Given the description of an element on the screen output the (x, y) to click on. 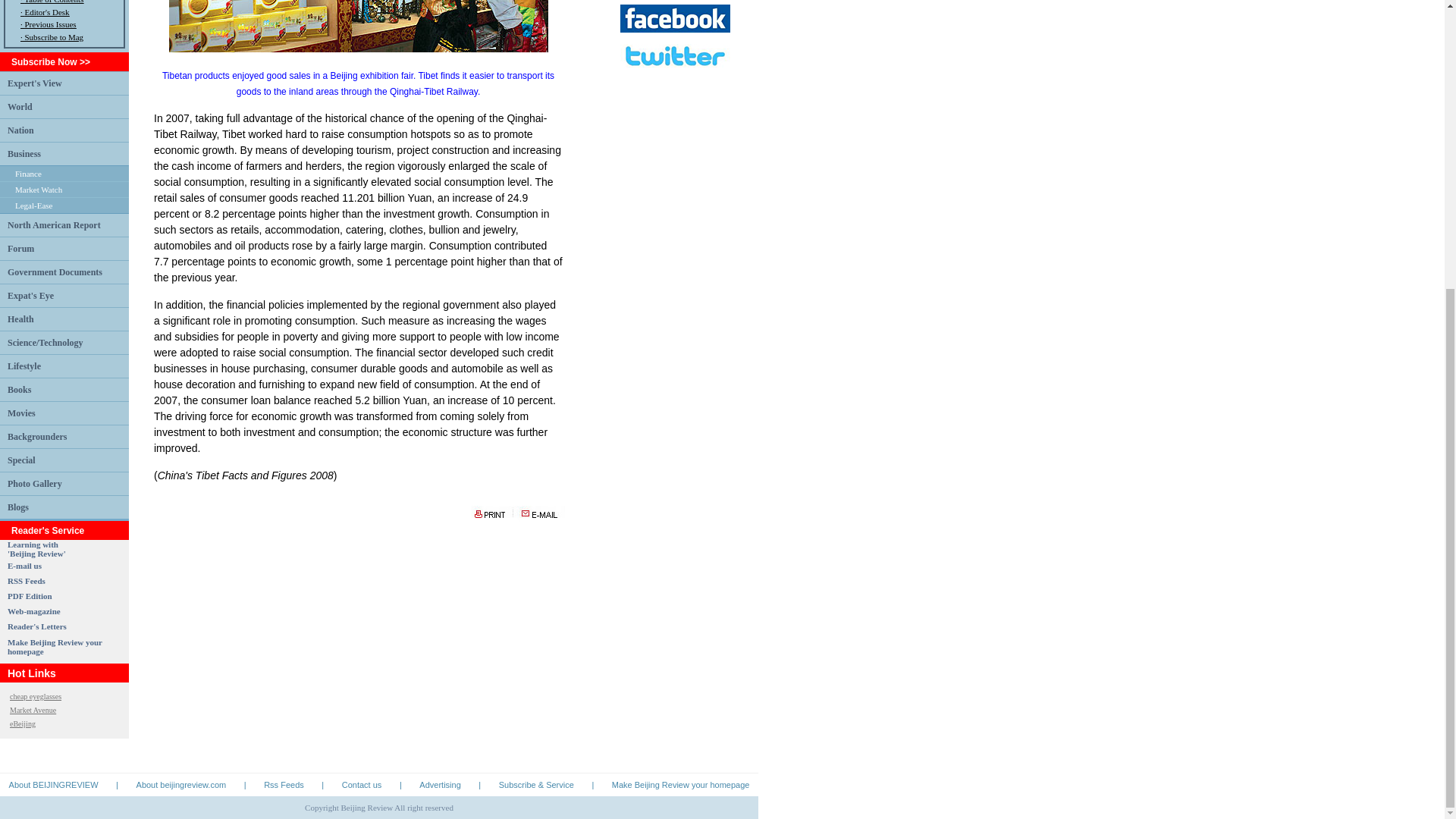
Books (18, 388)
Make Beijing Review your homepage (54, 647)
Reader's Letters (36, 625)
Government Documents (54, 271)
Market Watch (38, 189)
Finance (28, 173)
PDF Edition (29, 595)
Legal-Ease (33, 204)
Special (20, 460)
Photo Gallery (34, 482)
Movies (20, 412)
RSS Feeds (26, 580)
North American Report (36, 548)
World (53, 225)
